Given the description of an element on the screen output the (x, y) to click on. 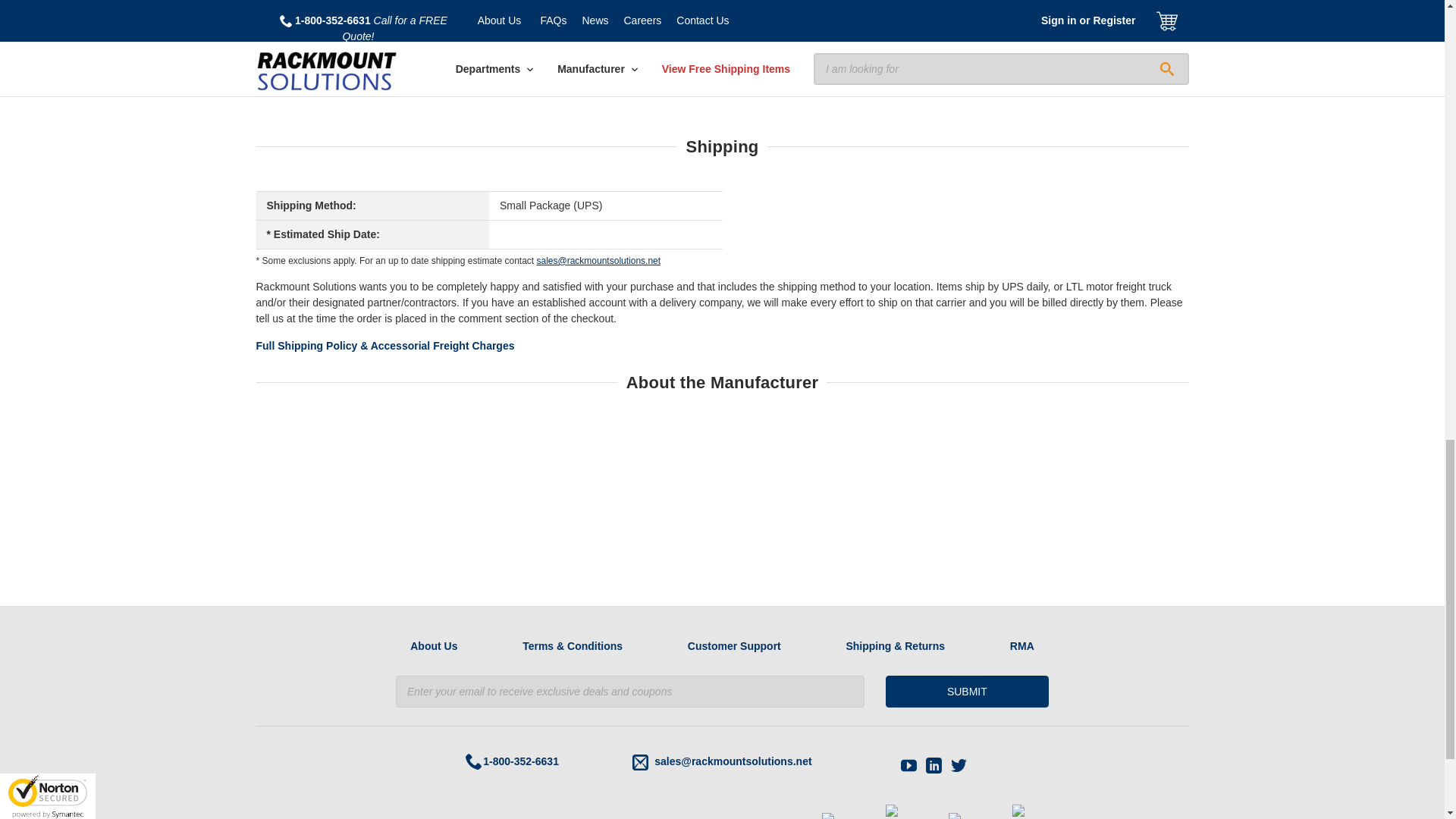
Submit (966, 691)
